Given the description of an element on the screen output the (x, y) to click on. 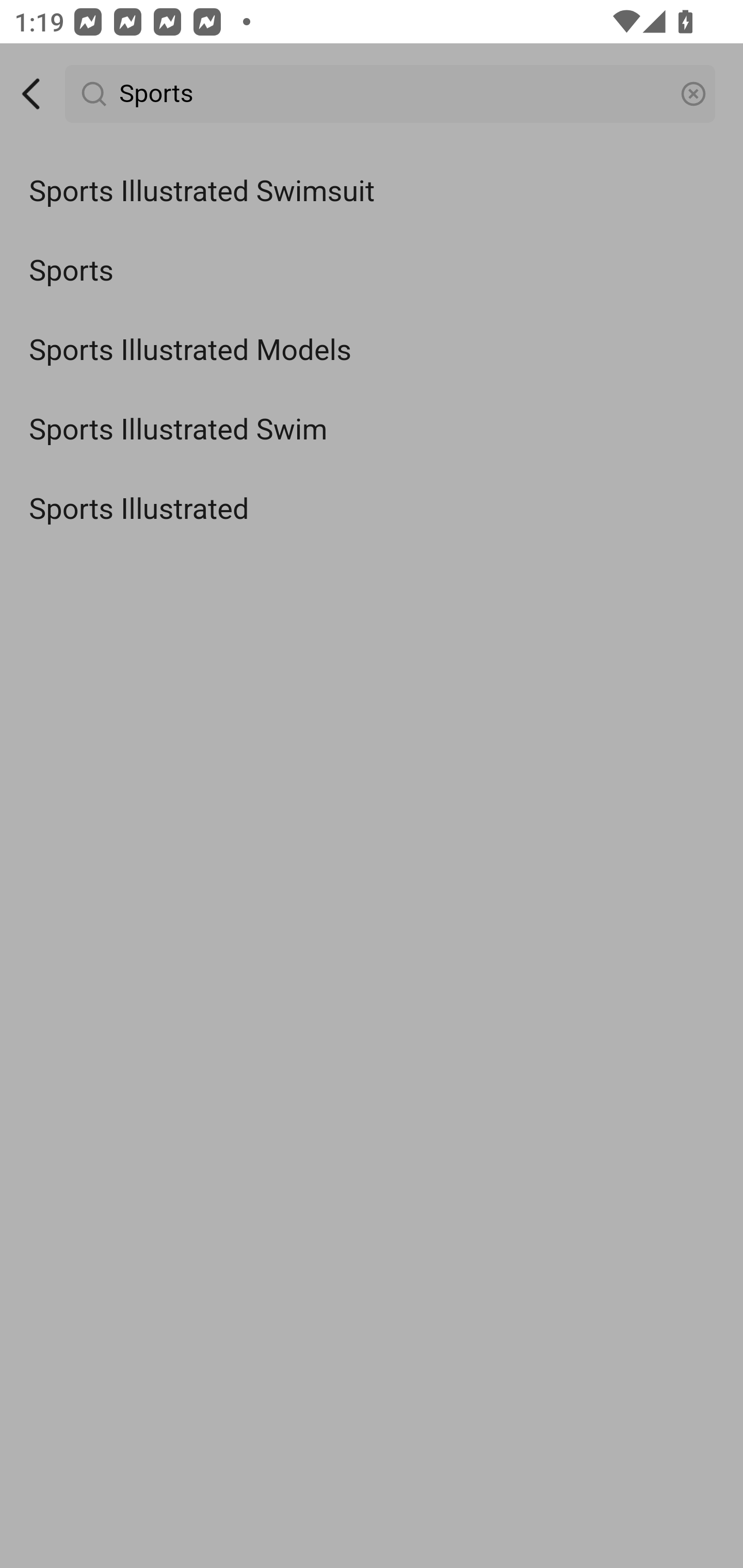
Sports (390, 93)
Sports Illustrated Swimsuit (371, 192)
Sports (371, 270)
Sports Illustrated Models (371, 351)
Sports Illustrated Swim (371, 430)
Sports Illustrated (371, 508)
